Given the description of an element on the screen output the (x, y) to click on. 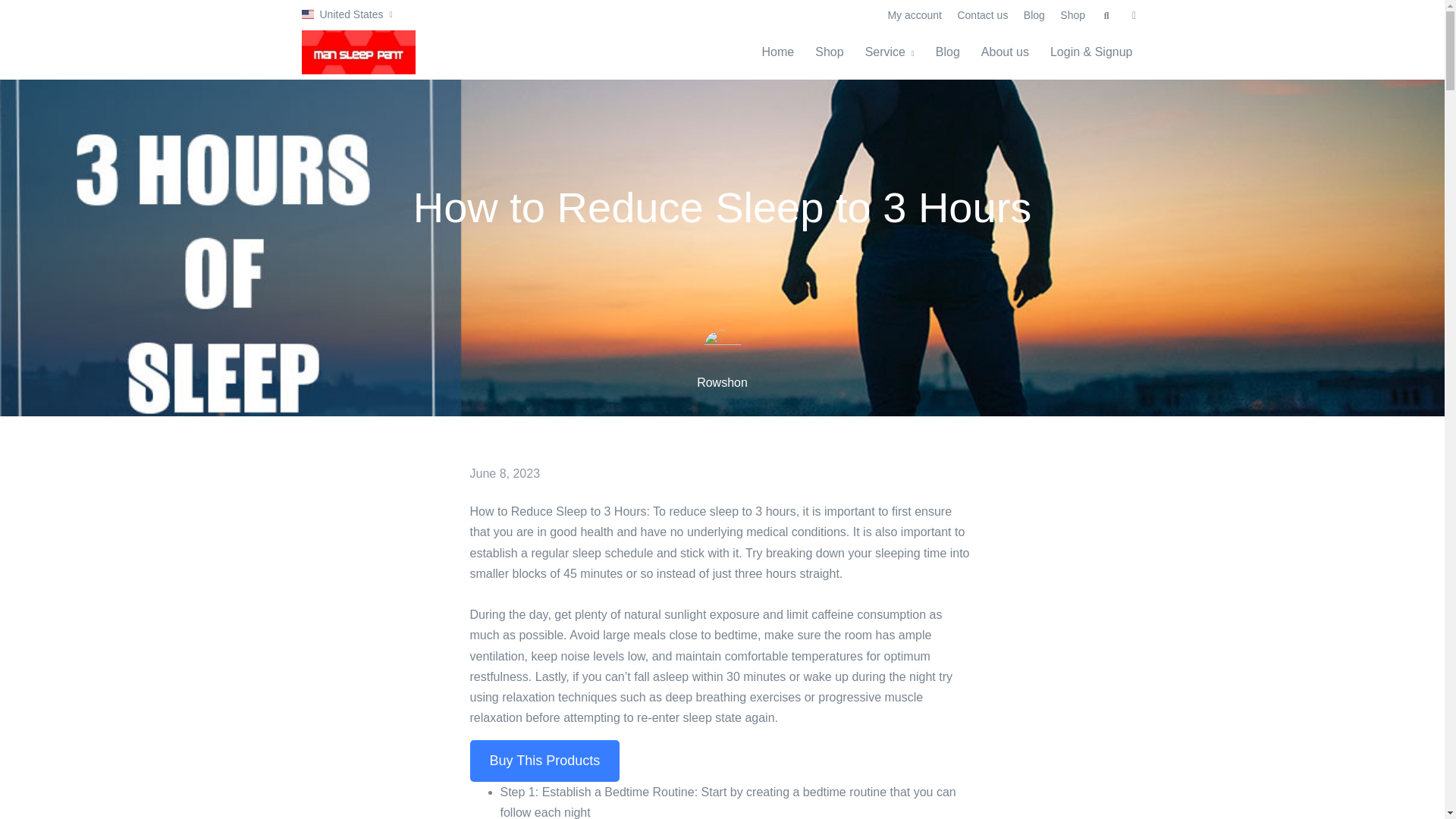
United States (347, 14)
Shop (829, 52)
Service (889, 52)
Blog (1034, 15)
My account (913, 15)
Service (889, 52)
Contact us (981, 15)
Shop (1072, 15)
Shop (829, 52)
About us (1005, 52)
